Given the description of an element on the screen output the (x, y) to click on. 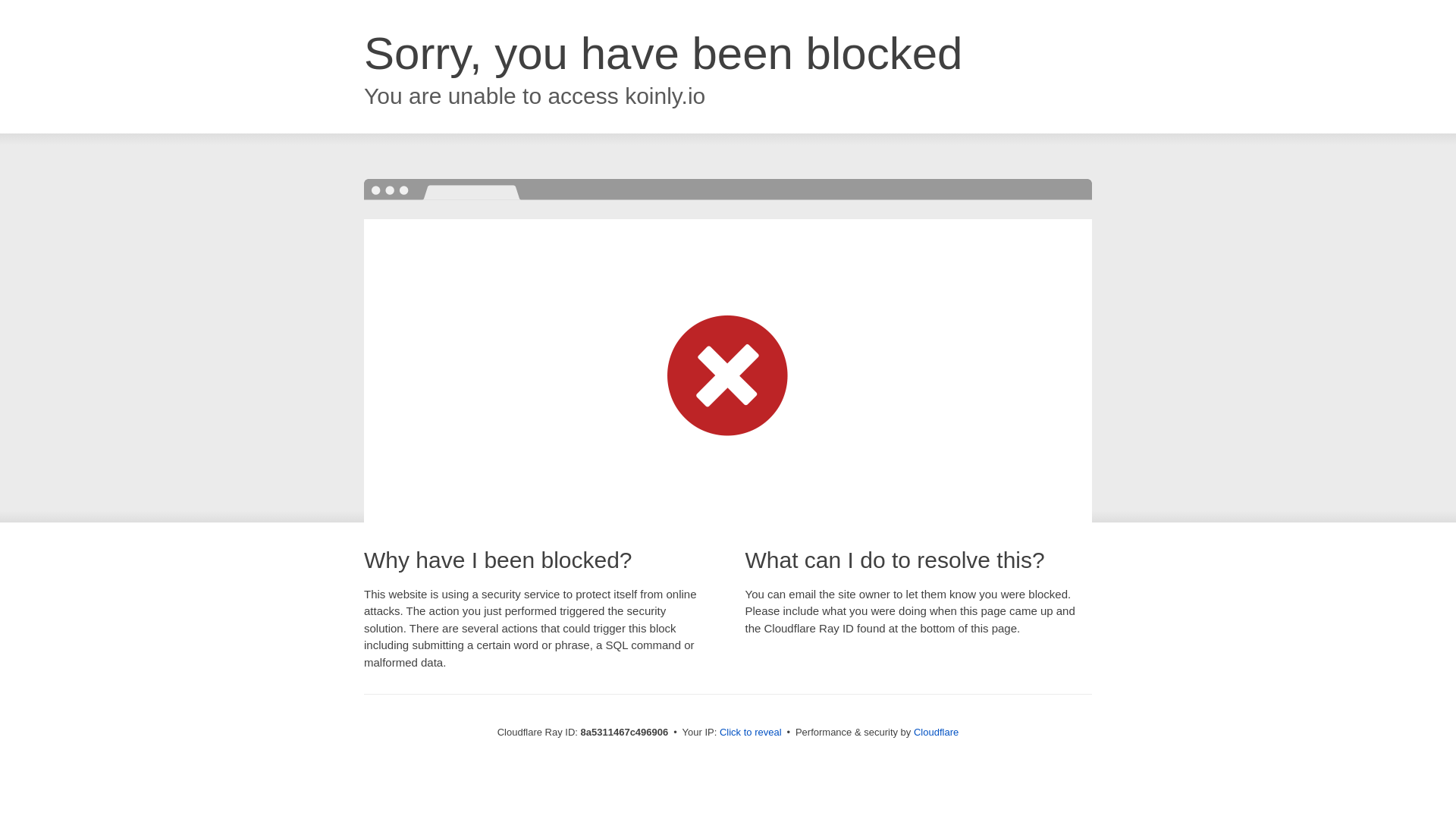
Click to reveal (750, 732)
Cloudflare (936, 731)
